Given the description of an element on the screen output the (x, y) to click on. 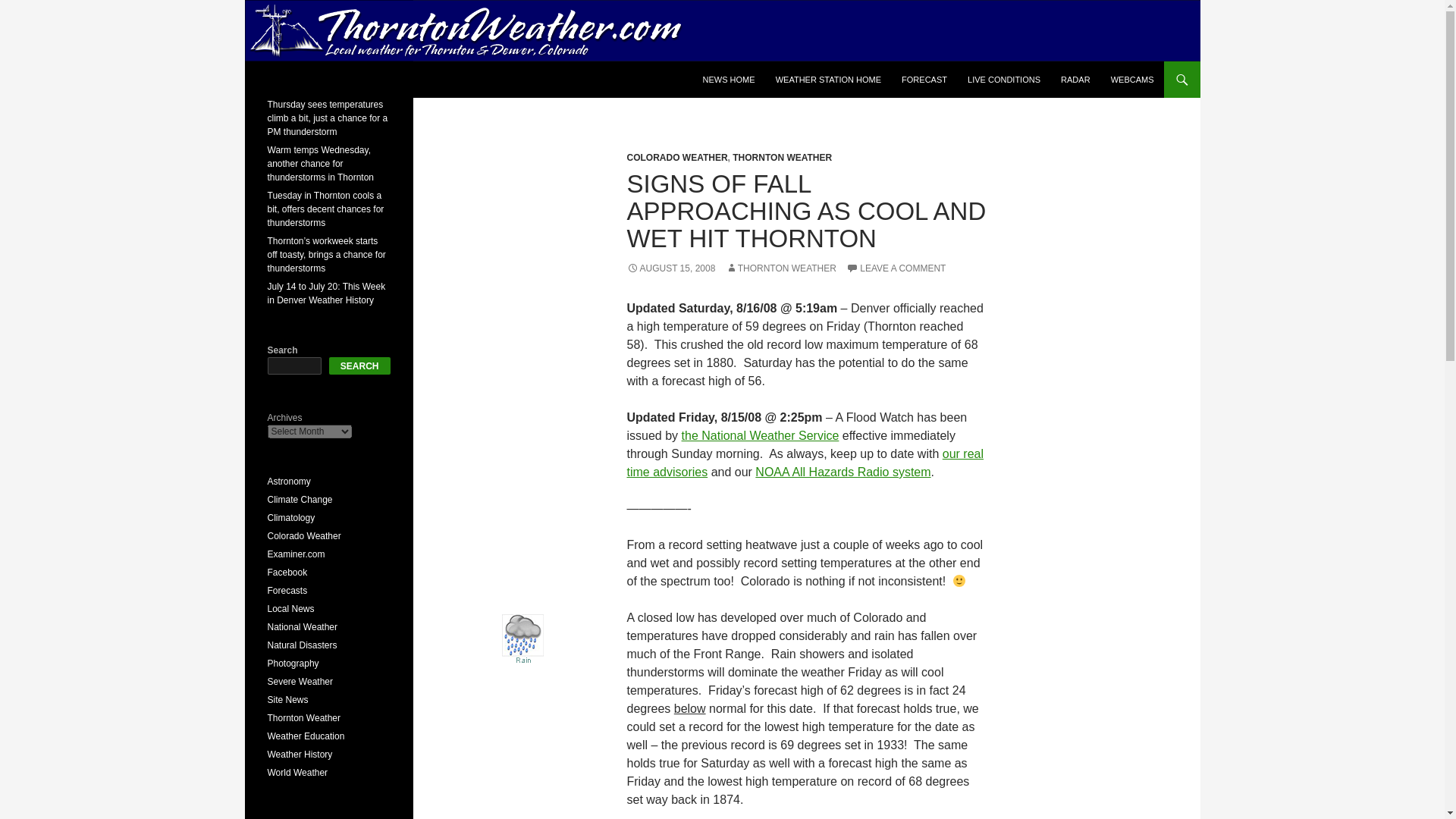
WEATHER STATION HOME (828, 79)
FORECAST (924, 79)
LIVE CONDITIONS (1003, 79)
LEAVE A COMMENT (894, 267)
July 14 to July 20: This Week in Denver Weather History (325, 293)
Colorado Weather (303, 535)
SEARCH (359, 365)
AUGUST 15, 2008 (670, 267)
the National Weather Service (760, 435)
NOAA All Hazards Radio system (842, 472)
THORNTON WEATHER (780, 267)
COLORADO WEATHER (676, 157)
